Given the description of an element on the screen output the (x, y) to click on. 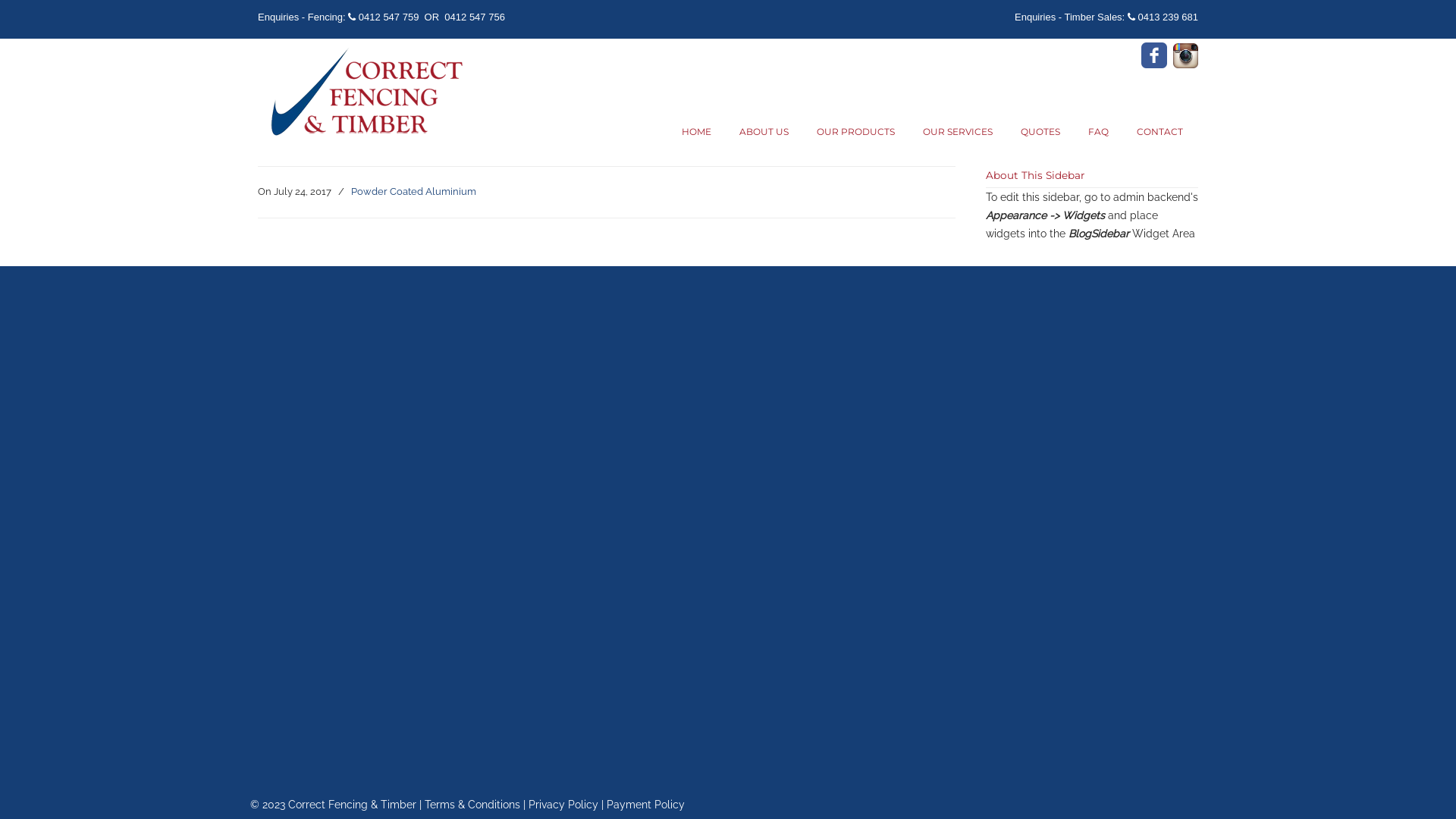
FAQ Element type: text (1098, 131)
Powder Coated Aluminium Element type: text (413, 191)
Payment Policy Element type: text (645, 804)
0413 239 681 Element type: text (1167, 16)
ABOUT US Element type: text (763, 131)
Terms & Conditions Element type: text (472, 804)
CONTACT Element type: text (1159, 131)
QUOTES Element type: text (1040, 131)
0412 547 756 Element type: text (474, 16)
Privacy Policy Element type: text (563, 804)
Correct Fencing & Timber Element type: text (363, 93)
0412 547 759 Element type: text (388, 16)
HOME Element type: text (696, 131)
OUR SERVICES Element type: text (957, 131)
OUR PRODUCTS Element type: text (855, 131)
